Given the description of an element on the screen output the (x, y) to click on. 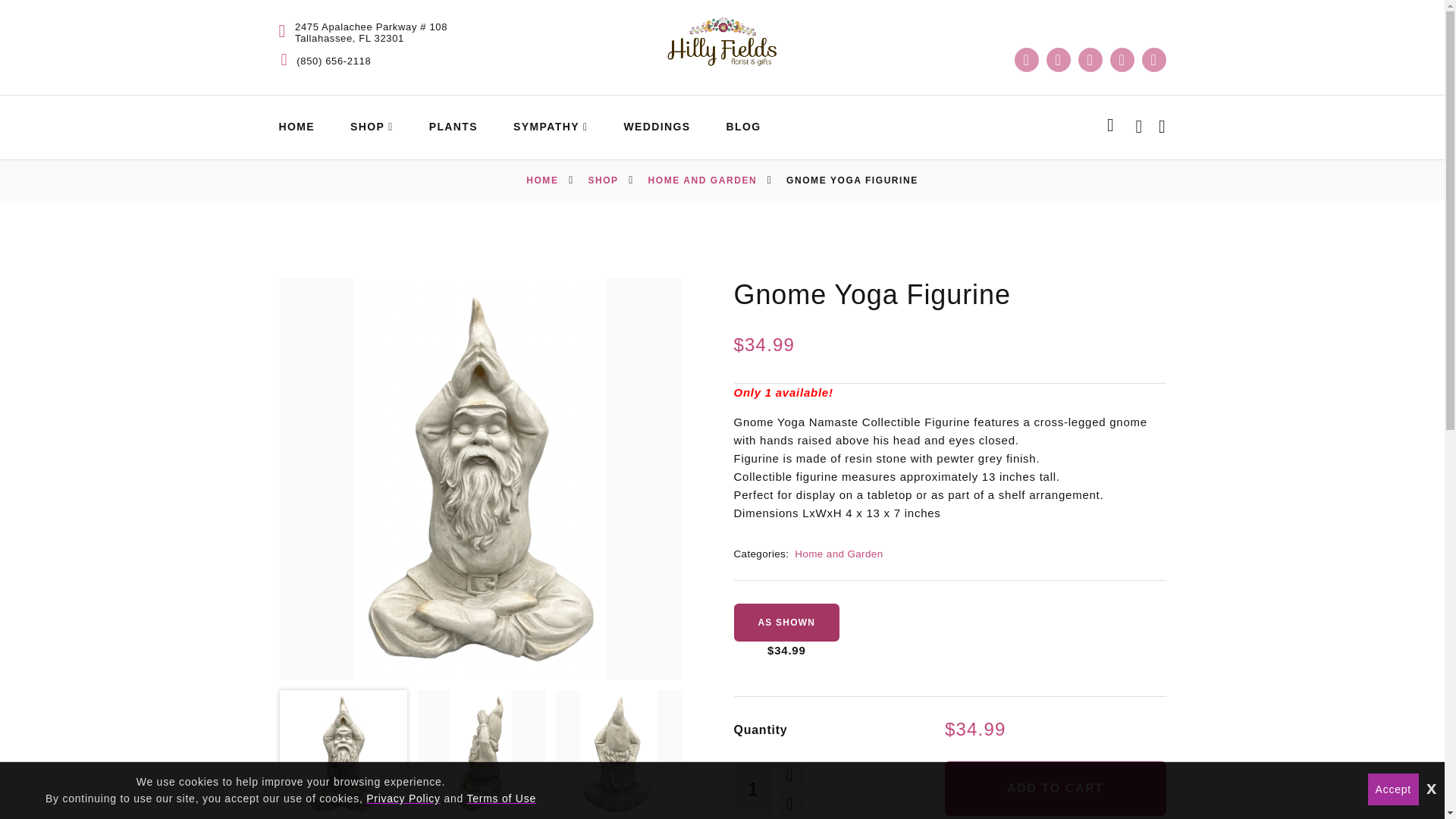
Twitter (1058, 59)
Instagram (1090, 59)
Pinterest (1121, 59)
Facebook (1026, 59)
